Given the description of an element on the screen output the (x, y) to click on. 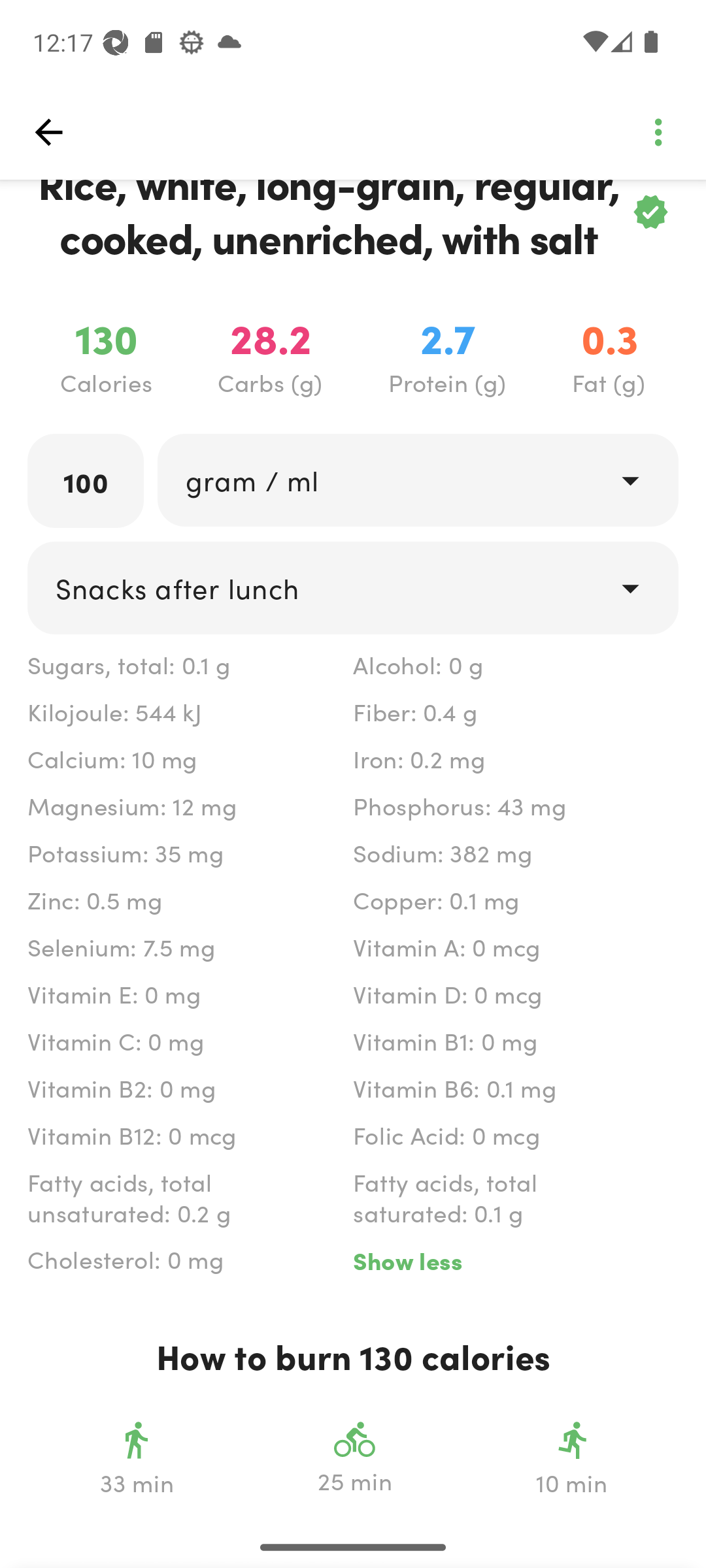
top_left_action (48, 132)
top_left_action (658, 132)
100 labeled_edit_text (85, 481)
drop_down gram / ml (417, 480)
drop_down Snacks after lunch (352, 587)
Show less (515, 1260)
